Given the description of an element on the screen output the (x, y) to click on. 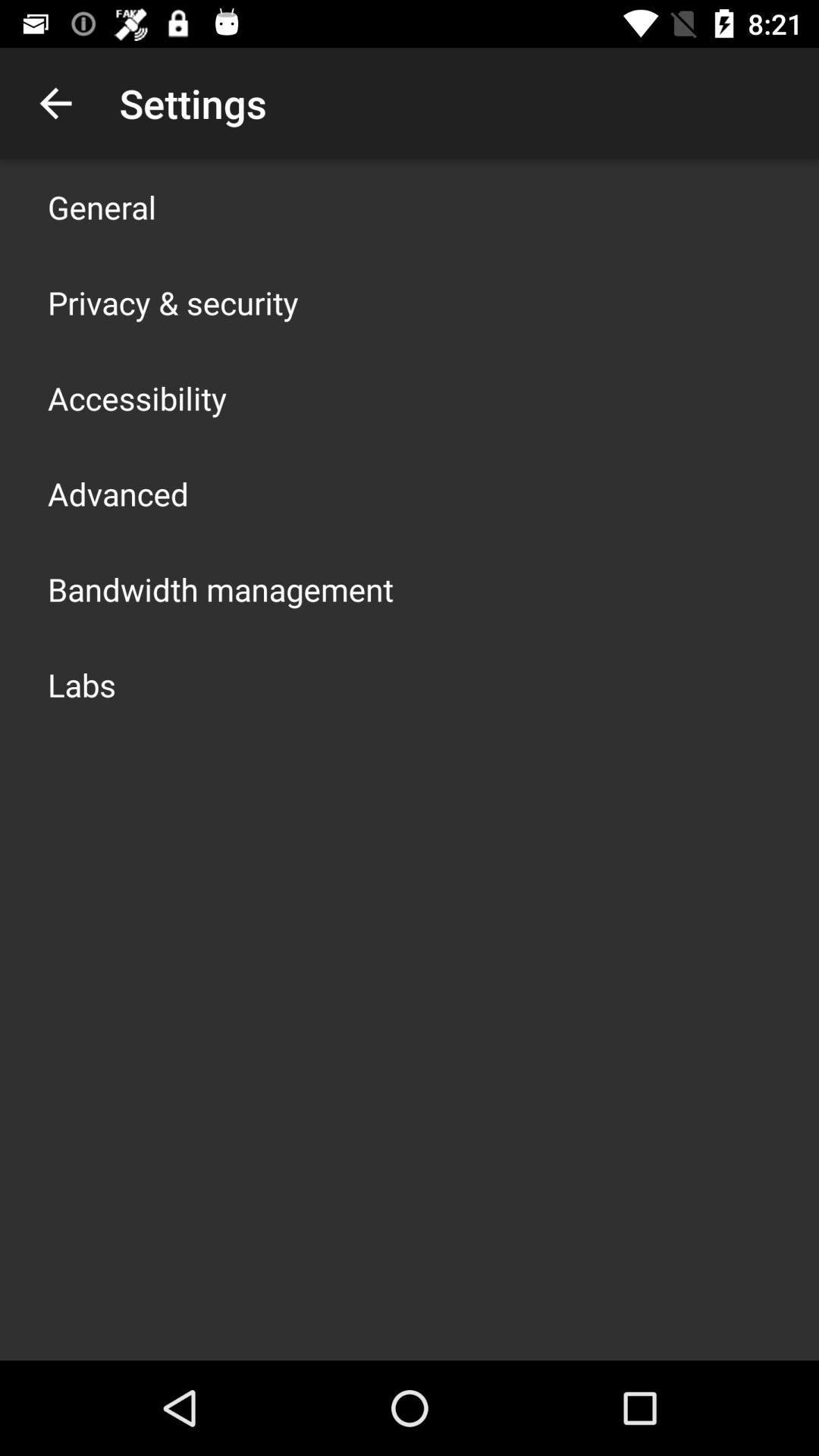
turn on the general item (101, 206)
